Given the description of an element on the screen output the (x, y) to click on. 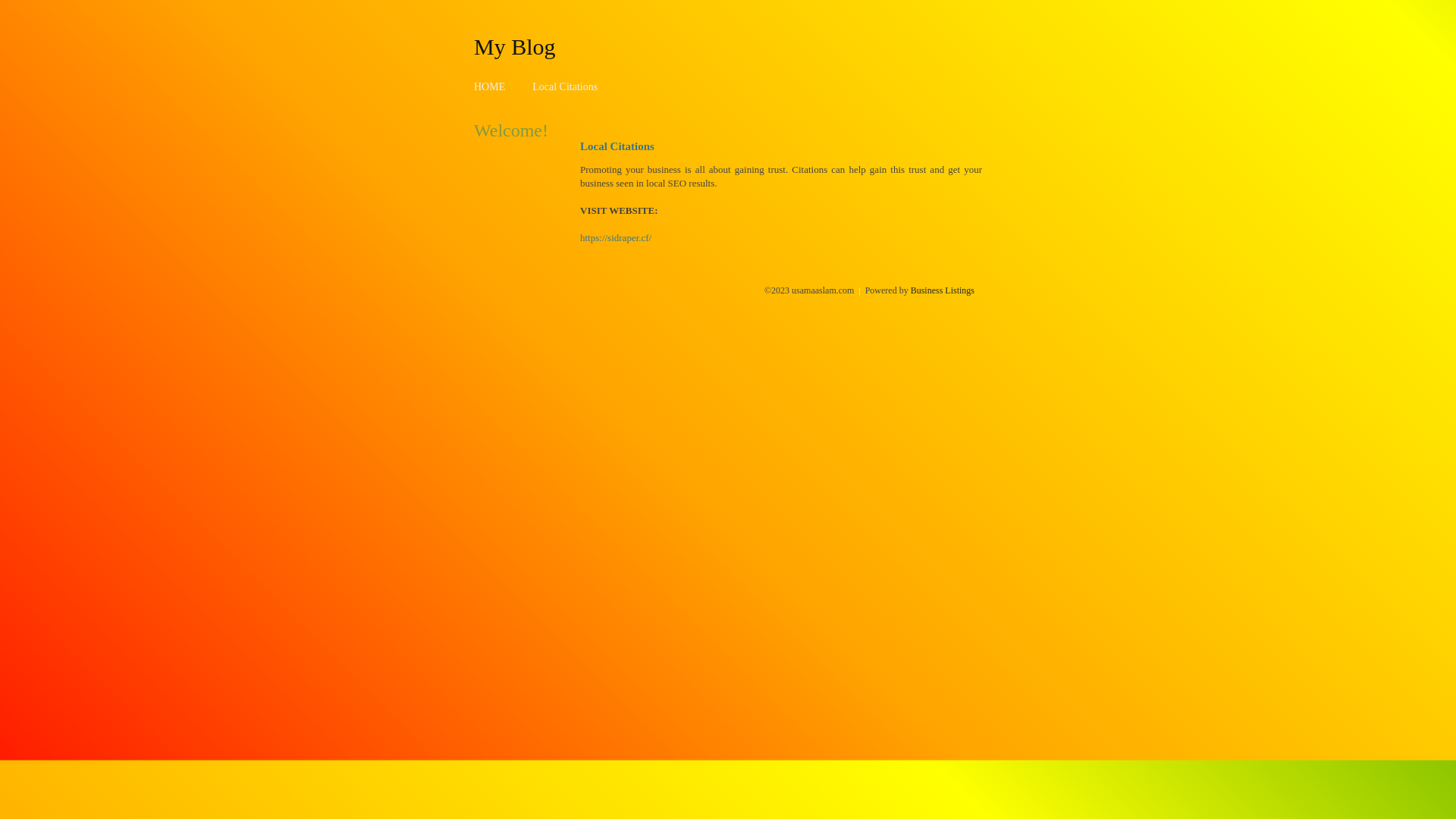
Local Citations Element type: text (564, 86)
HOME Element type: text (489, 86)
Business Listings Element type: text (942, 290)
https://sidraper.cf/ Element type: text (615, 237)
My Blog Element type: text (514, 46)
